Given the description of an element on the screen output the (x, y) to click on. 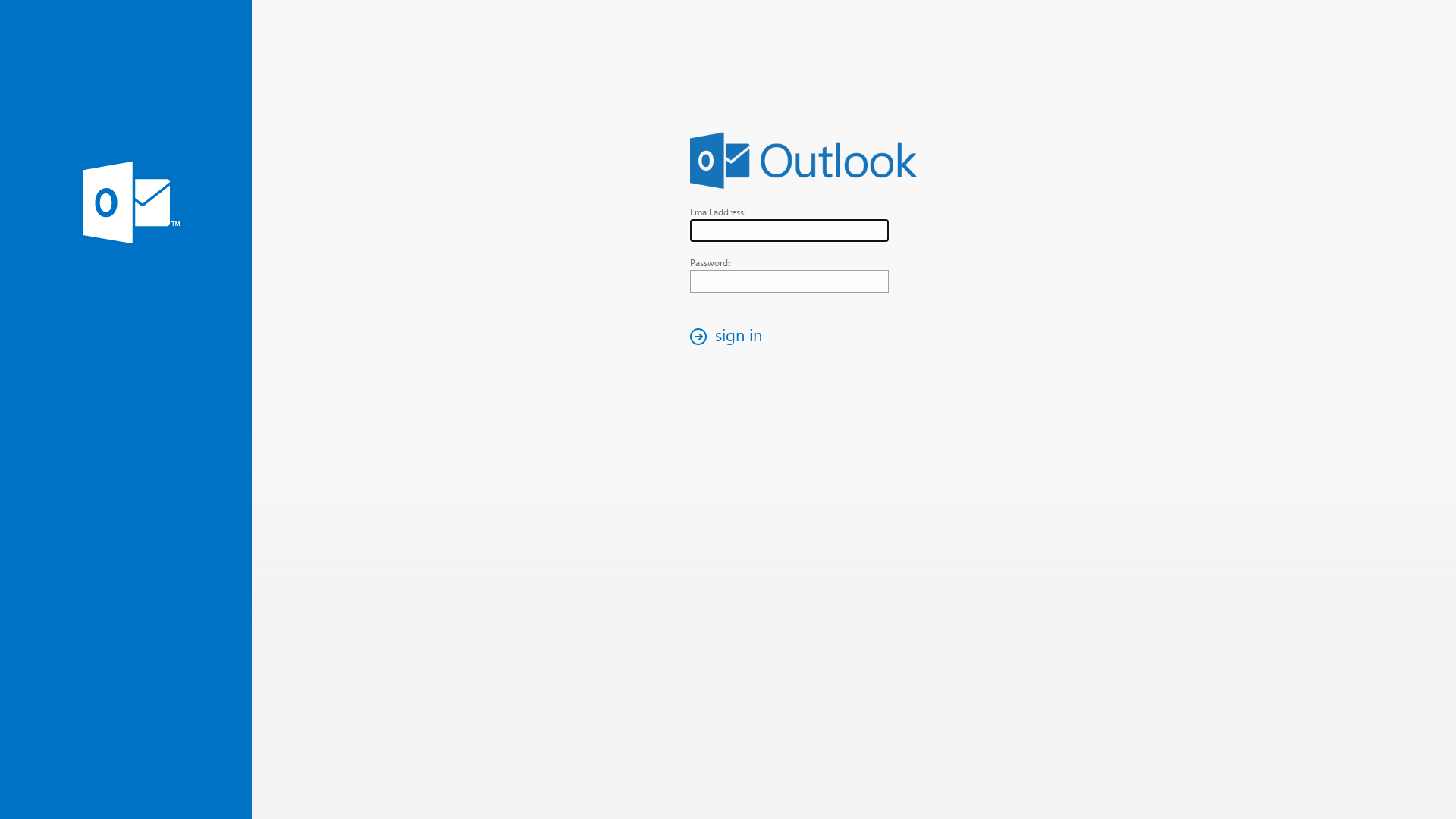
sign in Element type: text (730, 336)
